Given the description of an element on the screen output the (x, y) to click on. 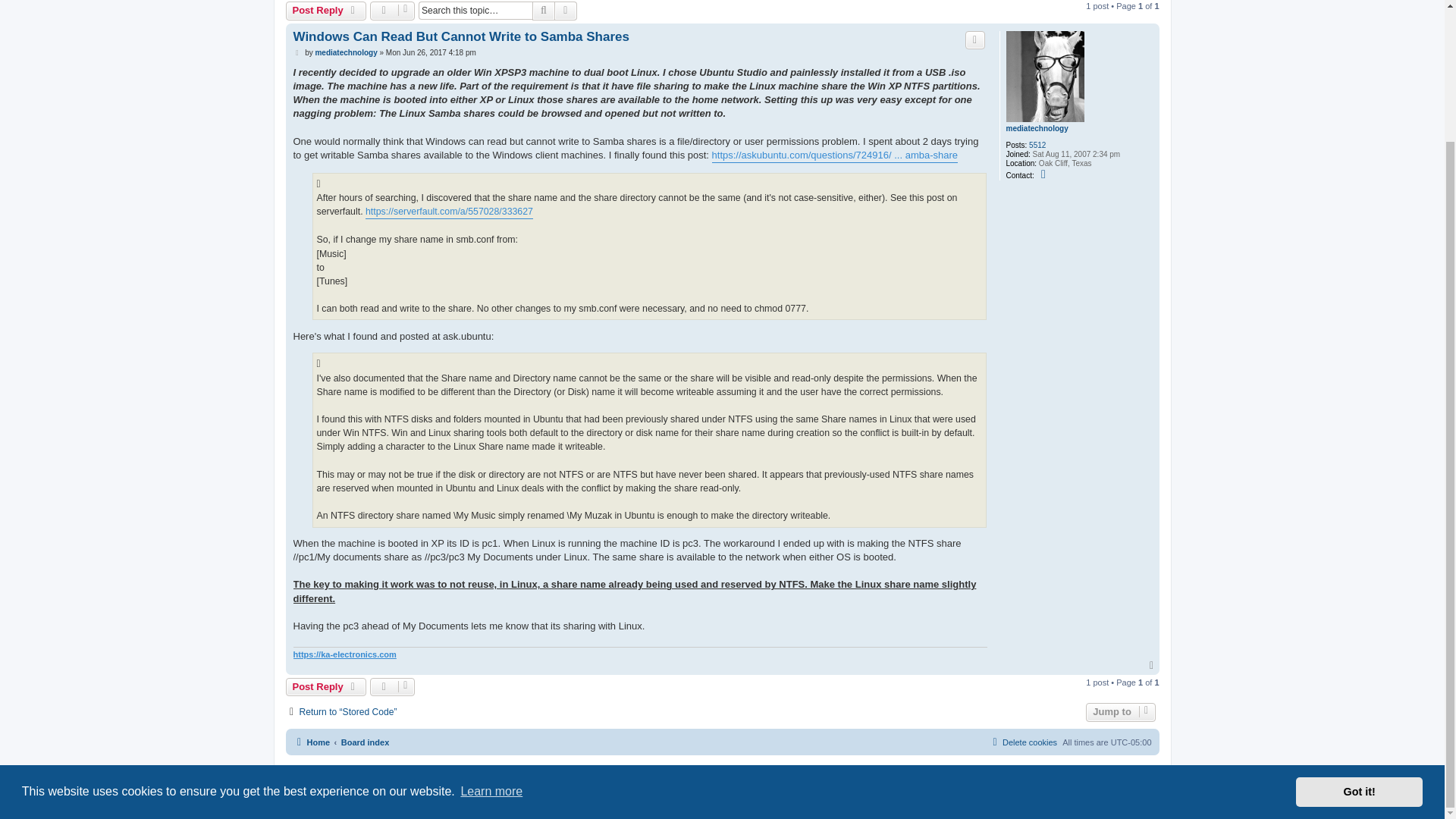
Windows Can Read But Cannot Write to Samba Shares (460, 36)
Contact mediatechnology (1044, 174)
mediatechnology (1036, 128)
Contact mediatechnology (1044, 174)
Quote (975, 40)
Top (1151, 665)
Topic tools (391, 10)
Got it! (1358, 630)
5512 (1037, 144)
Advanced search (565, 10)
Post (297, 52)
Post Reply (325, 10)
Post (297, 52)
Search (543, 10)
Advanced search (565, 10)
